Given the description of an element on the screen output the (x, y) to click on. 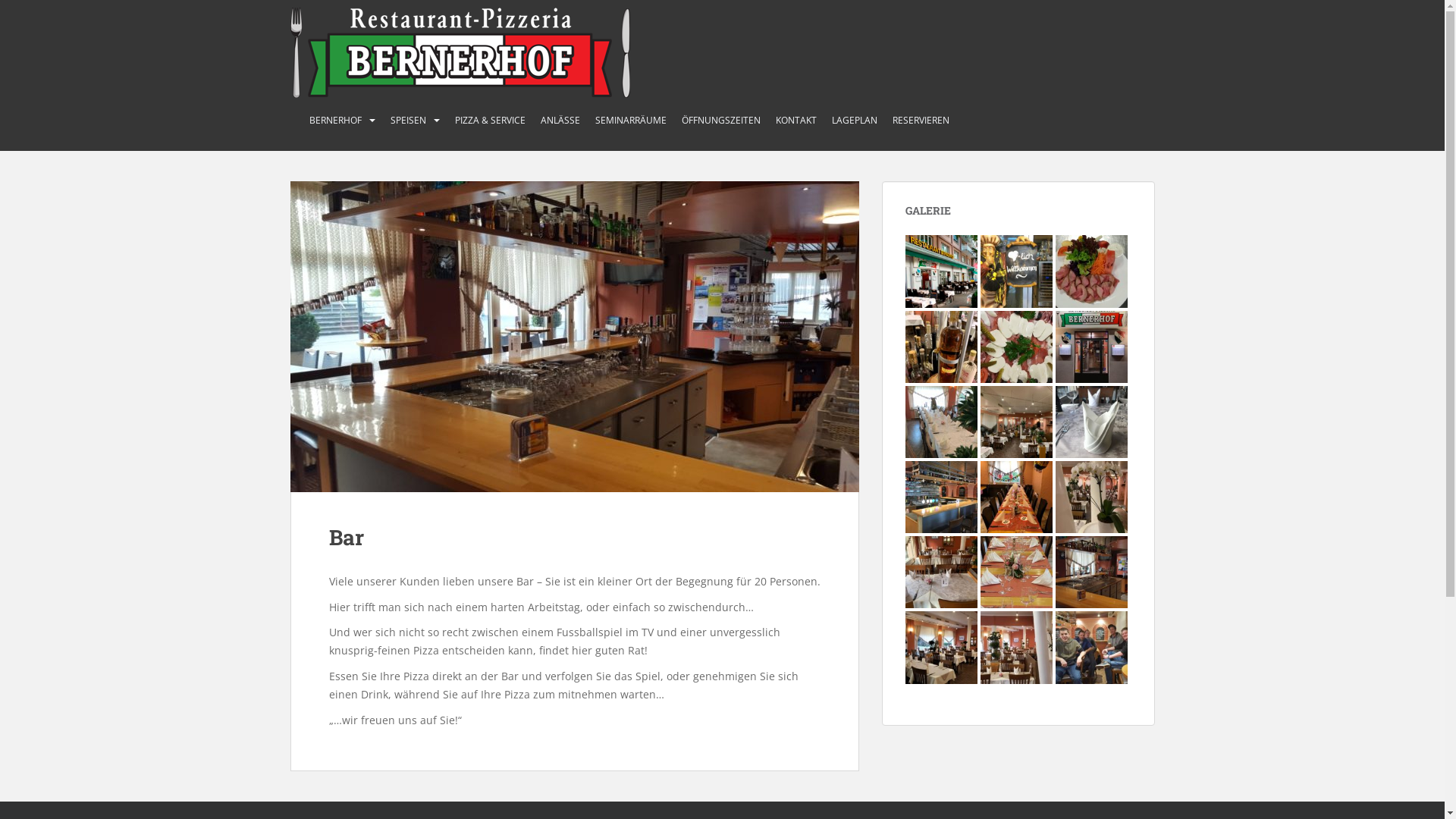
PIZZA & SERVICE Element type: text (490, 120)
SPEISEN Element type: text (407, 120)
LAGEPLAN Element type: text (853, 120)
BERNERHOF Element type: text (335, 120)
KONTAKT Element type: text (795, 120)
RESERVIEREN Element type: text (919, 120)
